Given the description of an element on the screen output the (x, y) to click on. 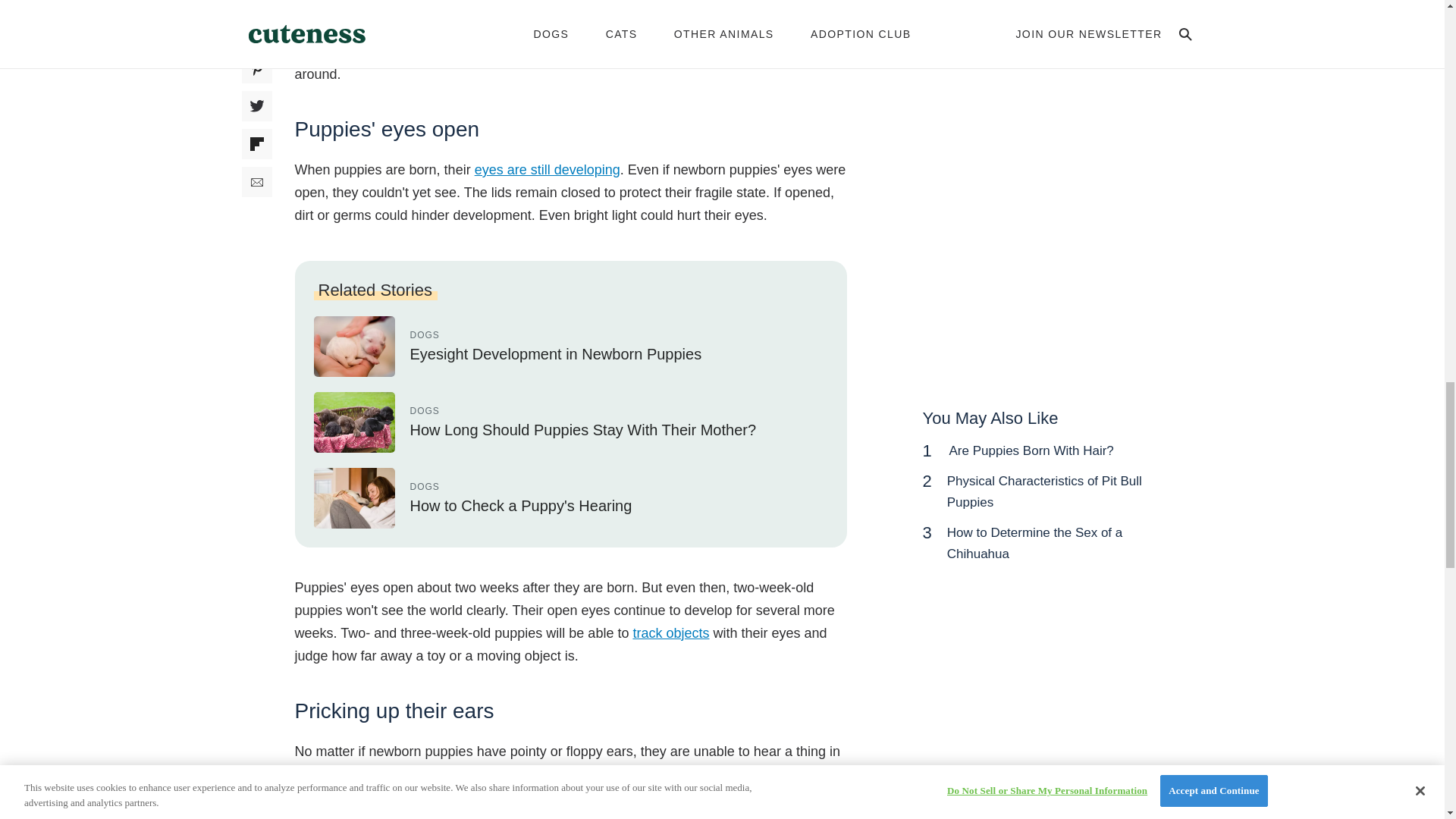
How to Determine the Sex of a Chihuahua (1034, 543)
Physical Characteristics of Pit Bull Puppies (1044, 491)
   Are Puppies Born With Hair? (1031, 450)
